Given the description of an element on the screen output the (x, y) to click on. 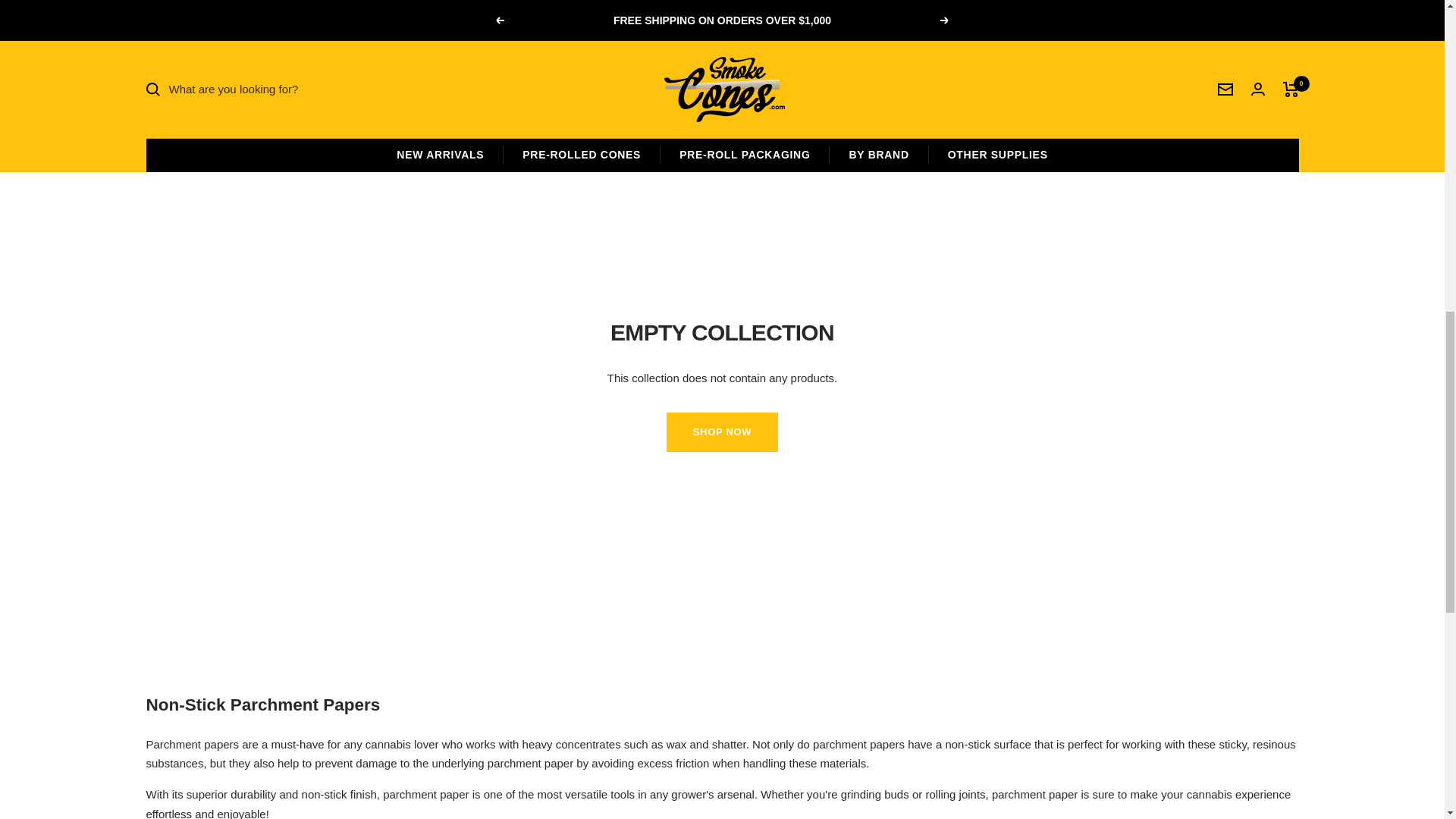
SHOP NOW (1014, 70)
